Given the description of an element on the screen output the (x, y) to click on. 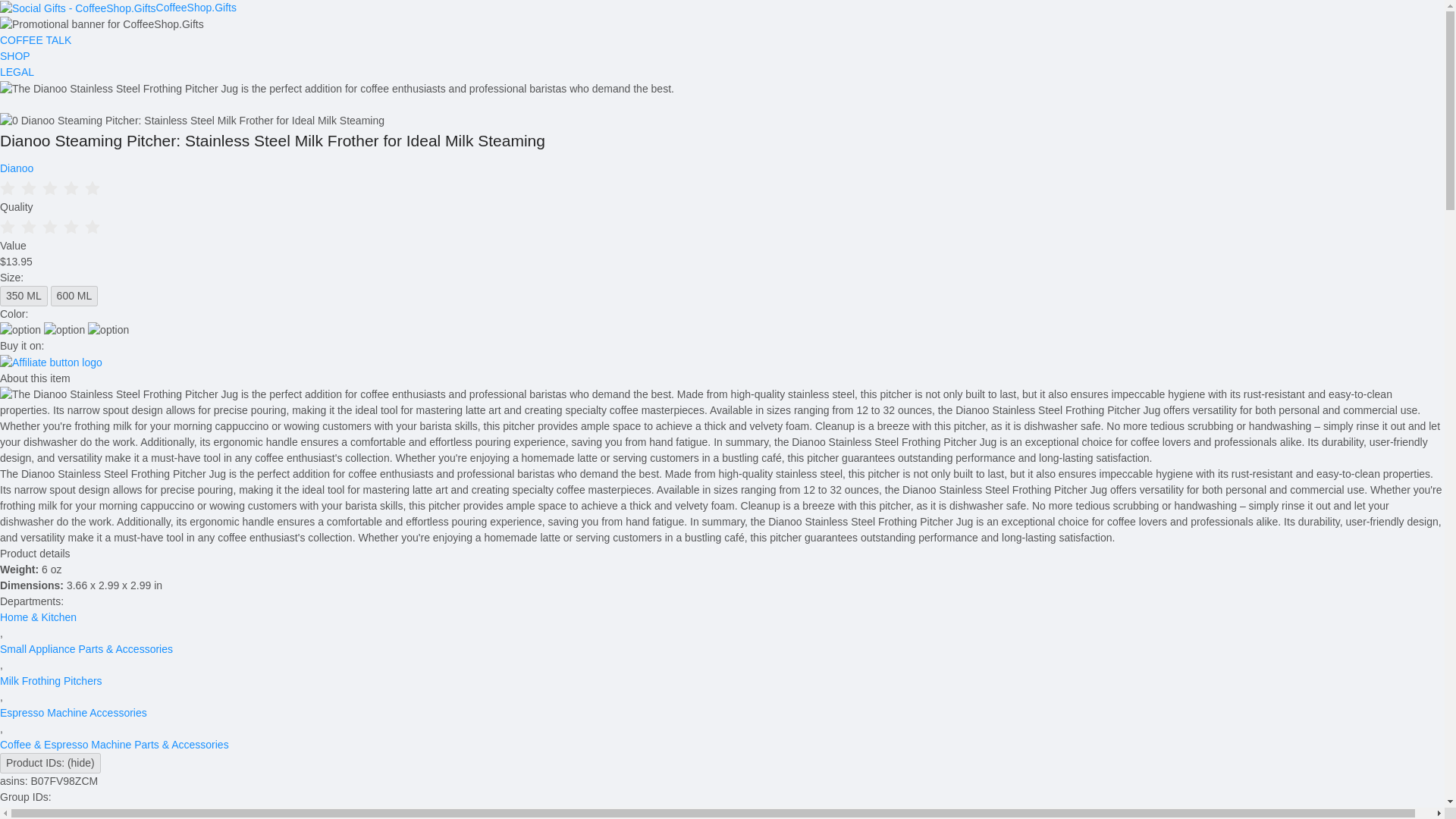
CoffeeShop.Gifts (117, 7)
Milk Frothing Pitchers (50, 680)
CoffeeShop.Gifts - Your Ultimate Coffee Haven (117, 7)
0 (722, 226)
350 ML (24, 295)
600 ML (74, 295)
SHOP (722, 56)
0 (722, 187)
B07FVVYVTW (34, 812)
Espresso Machine Accessories (73, 712)
Dianoo (16, 168)
